Given the description of an element on the screen output the (x, y) to click on. 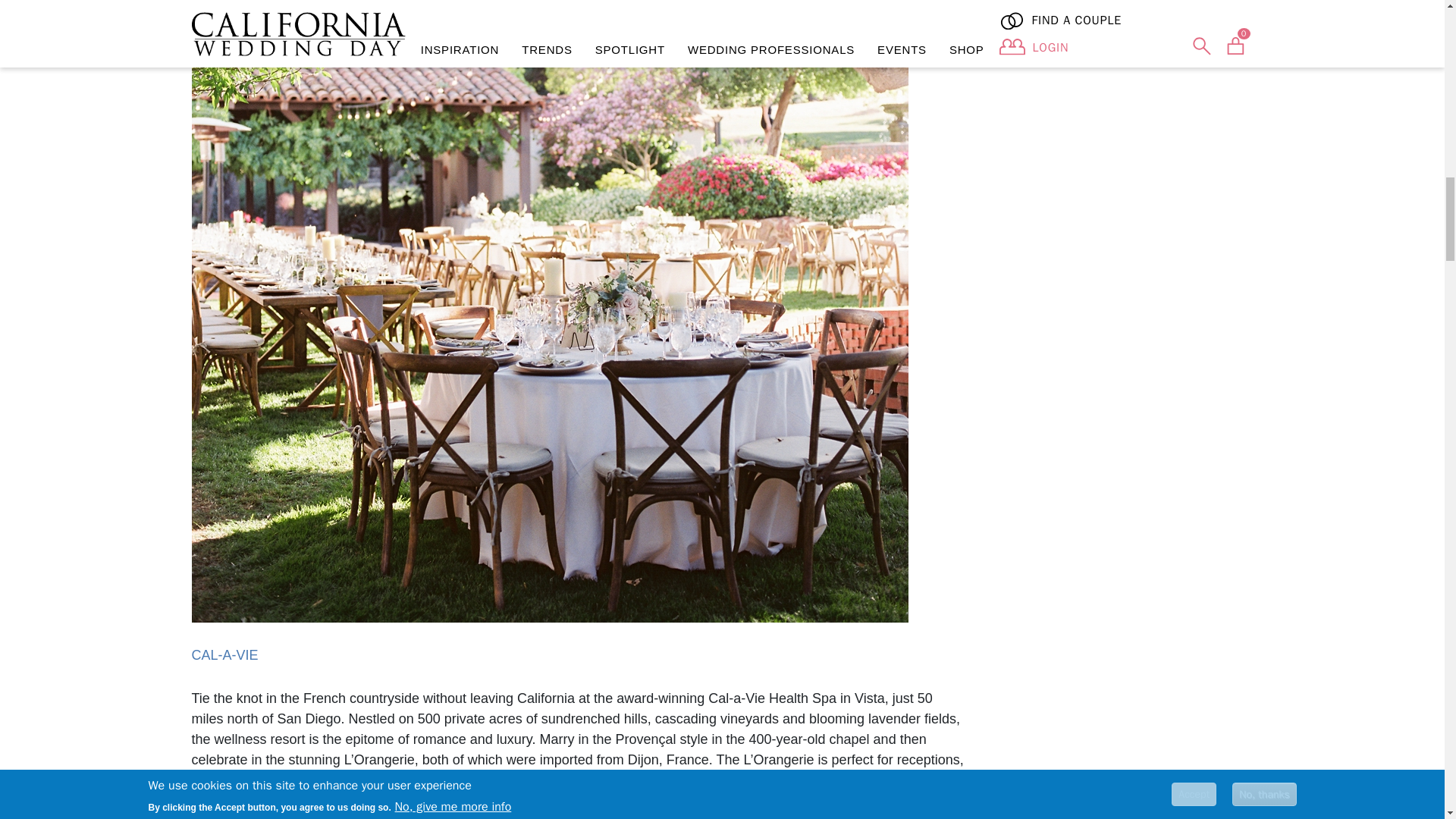
CAL-A-VIE (223, 654)
